Given the description of an element on the screen output the (x, y) to click on. 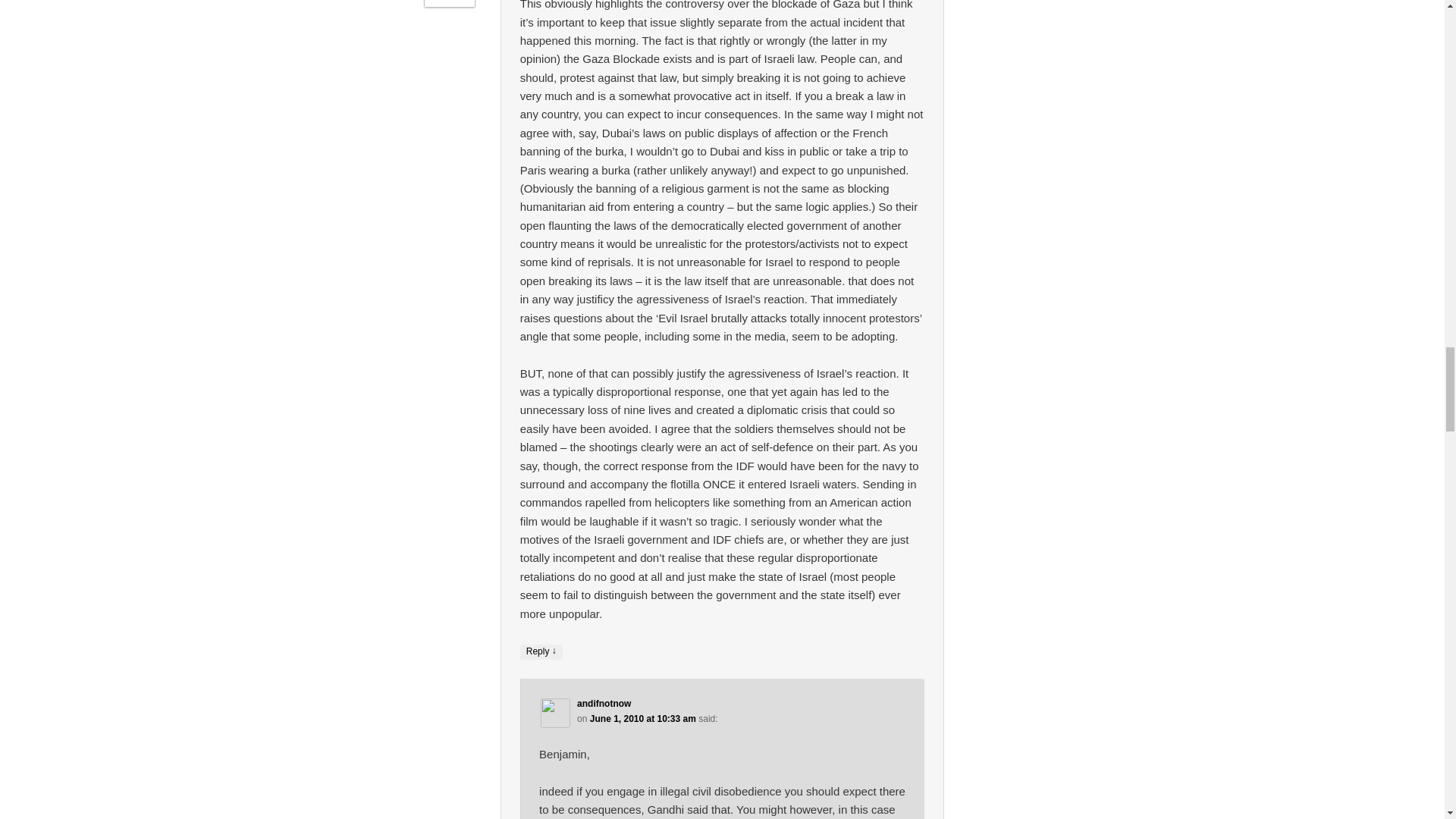
andifnotnow (603, 703)
June 1, 2010 at 10:33 am (642, 718)
